Given the description of an element on the screen output the (x, y) to click on. 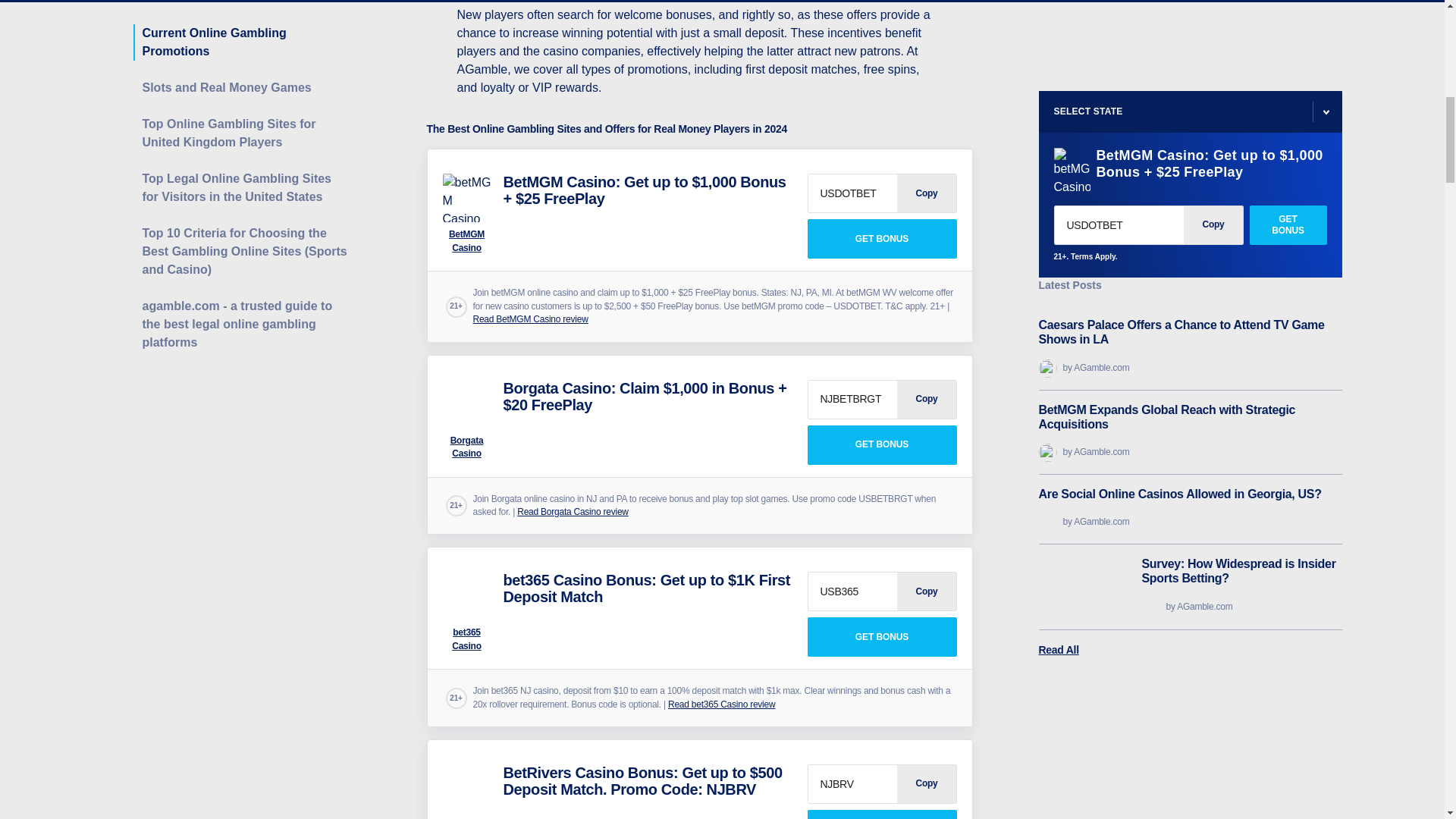
betMGM Casino - aGamble.com (467, 197)
borgata-casino - aGamble.com (467, 404)
Betrivers Casino - aGamble.com (467, 788)
bet365 Casino (881, 636)
BetMGM Casino (881, 238)
BetRivers Casino NJ (881, 814)
Borgata Online Casino (881, 445)
bet365-casino - aGamble.com (467, 595)
